Given the description of an element on the screen output the (x, y) to click on. 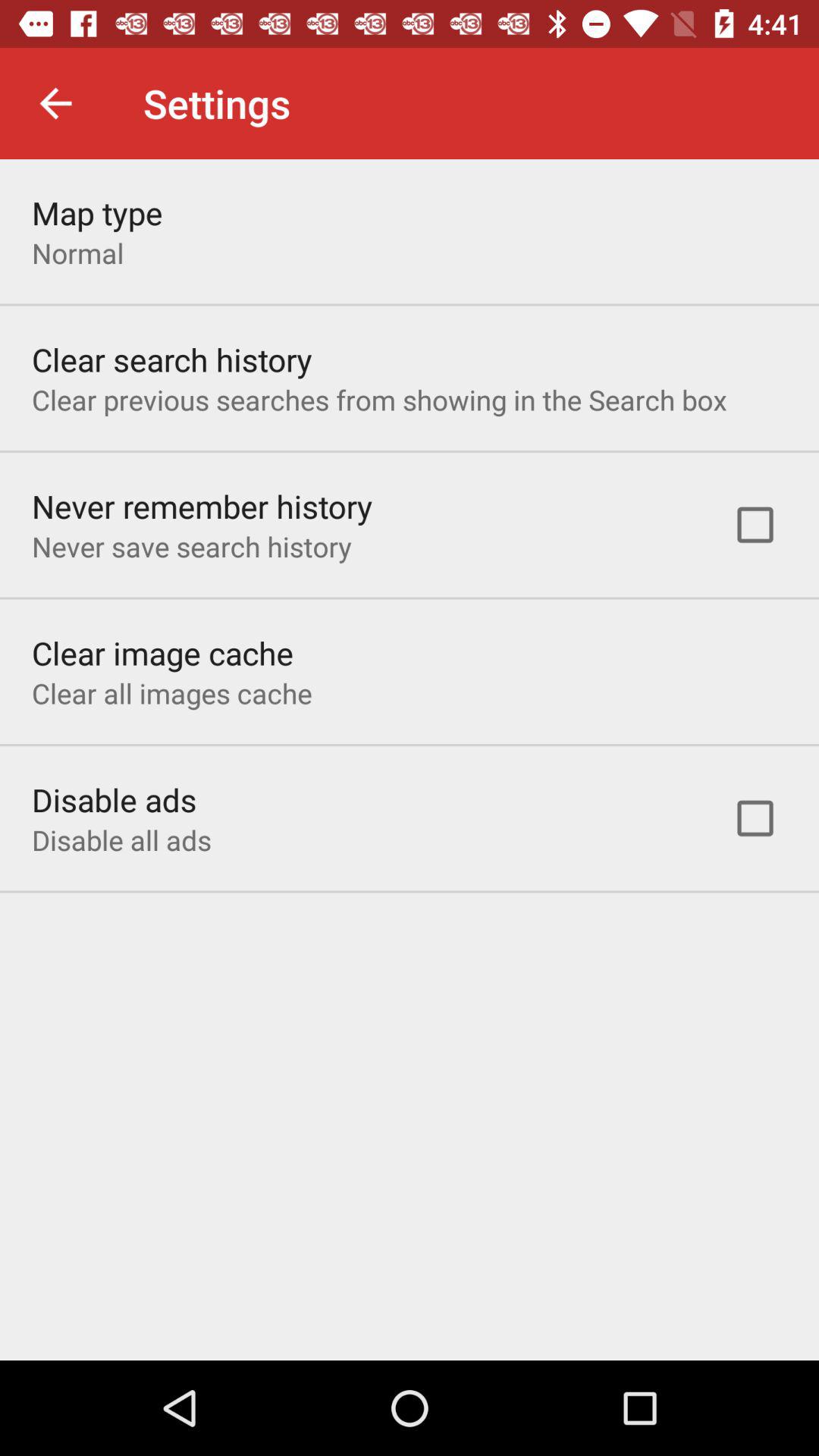
turn on the item below the clear search history icon (378, 399)
